Given the description of an element on the screen output the (x, y) to click on. 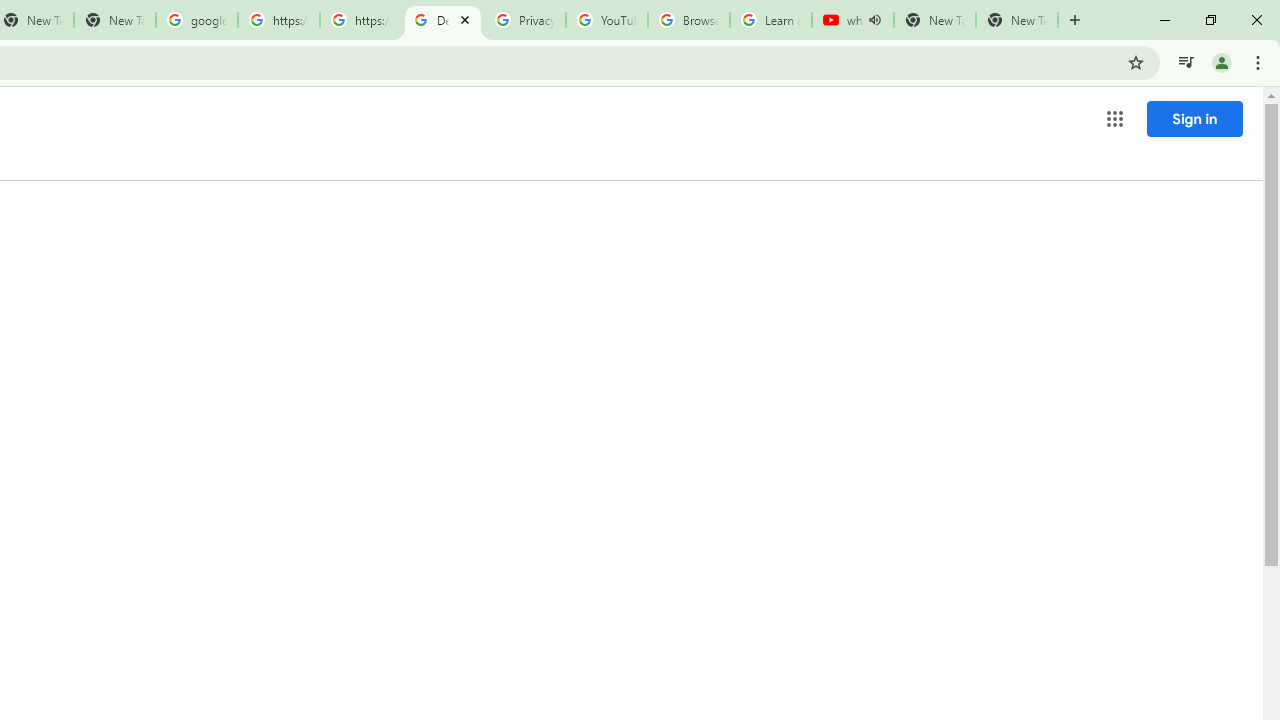
https://scholar.google.com/ (360, 20)
Control your music, videos, and more (1185, 62)
